Given the description of an element on the screen output the (x, y) to click on. 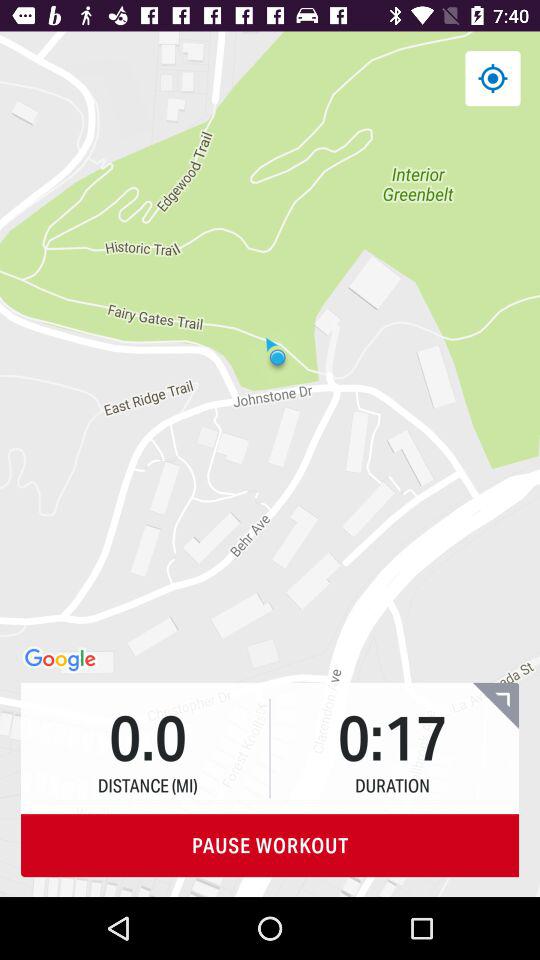
choose item at the top right corner (492, 78)
